Given the description of an element on the screen output the (x, y) to click on. 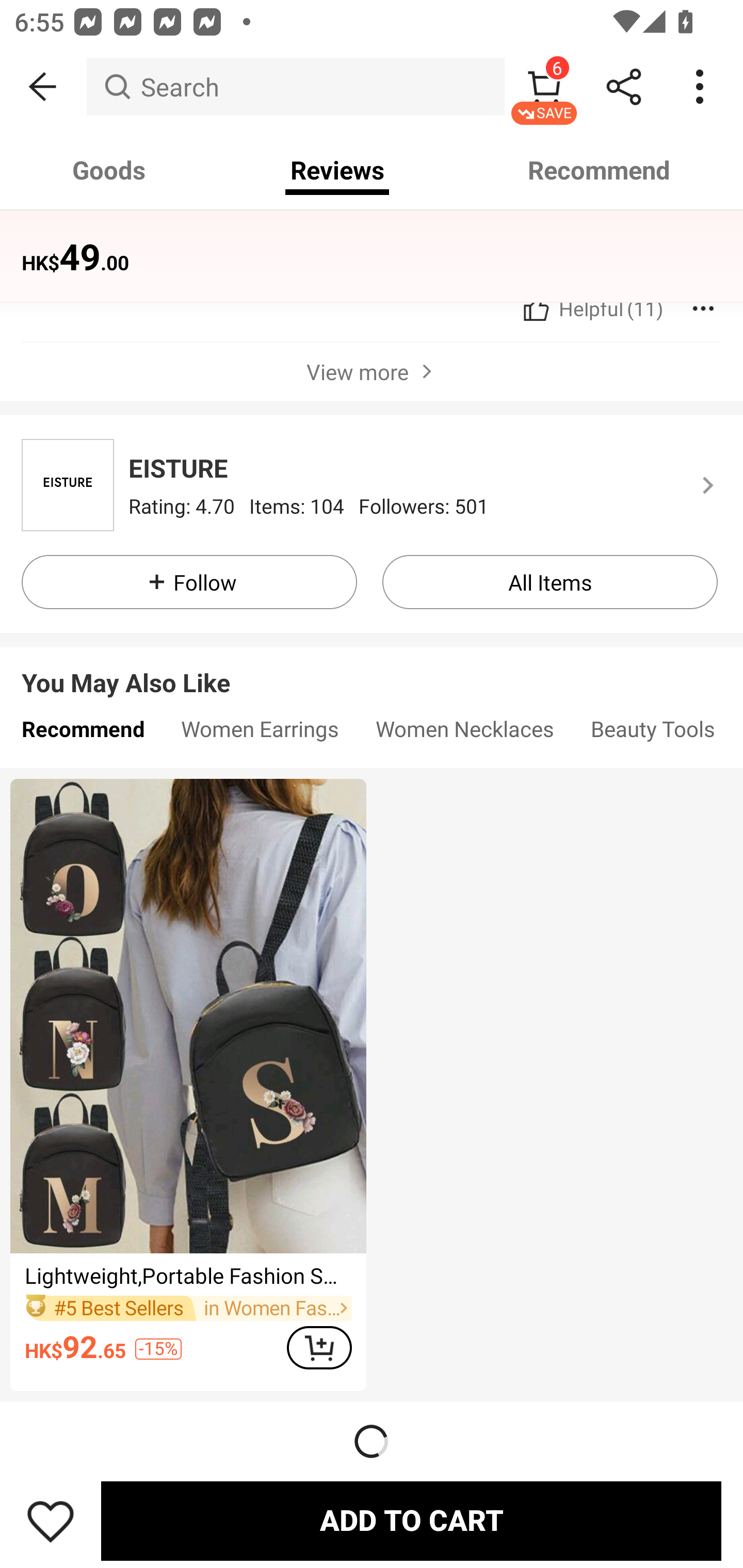
BACK (43, 86)
6 SAVE (543, 87)
Search (295, 87)
Goods (109, 170)
Reviews (337, 170)
Recommend (599, 170)
Cancel Helpful Was this article helpful? (11) (591, 307)
View more (371, 371)
Follow (189, 581)
All Items (549, 581)
You May Also Like (371, 667)
Recommend (82, 733)
Women Earrings (259, 733)
Women Necklaces (464, 733)
Beauty Tools (652, 733)
#5 Best Sellers in Women Fashion Backpacks (188, 1307)
ADD TO CART (319, 1347)
ADD TO CART (411, 1520)
Save (50, 1520)
